Given the description of an element on the screen output the (x, y) to click on. 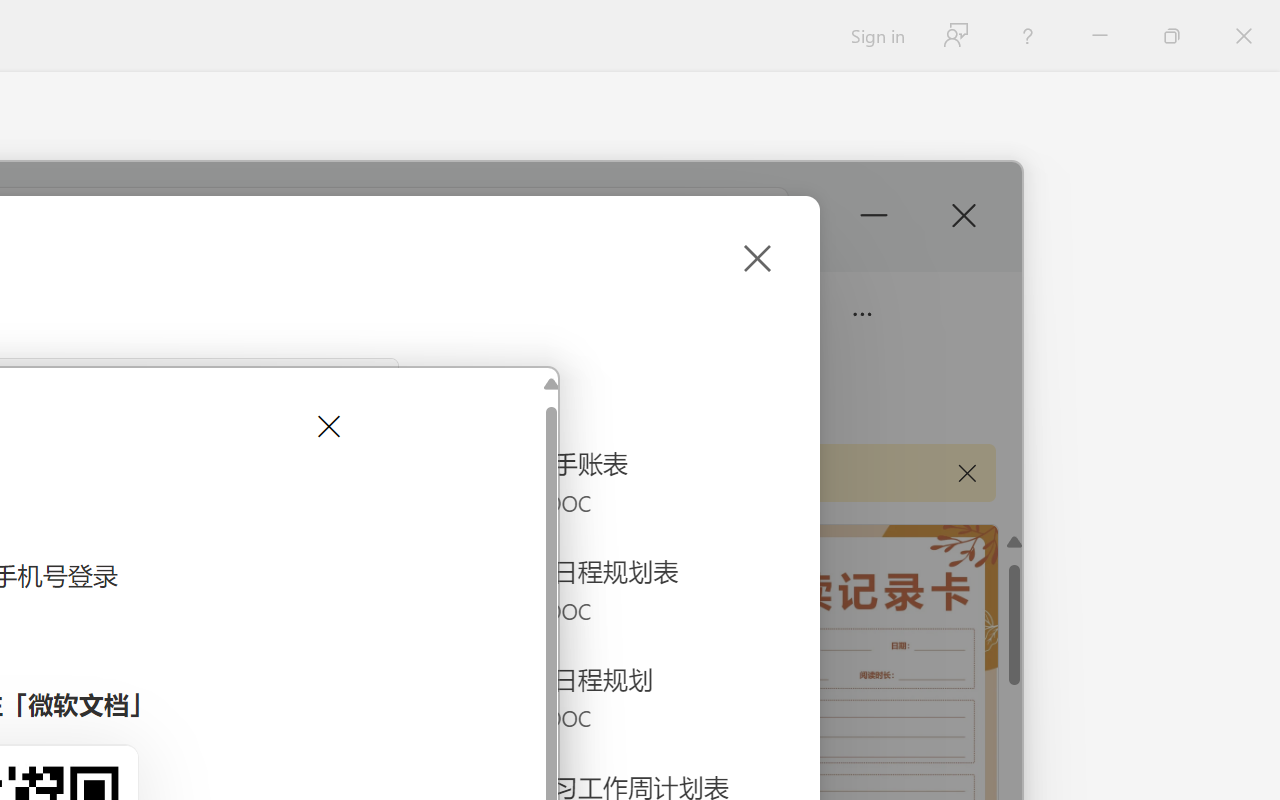
Sign in (875, 35)
Cancel (326, 425)
